Given the description of an element on the screen output the (x, y) to click on. 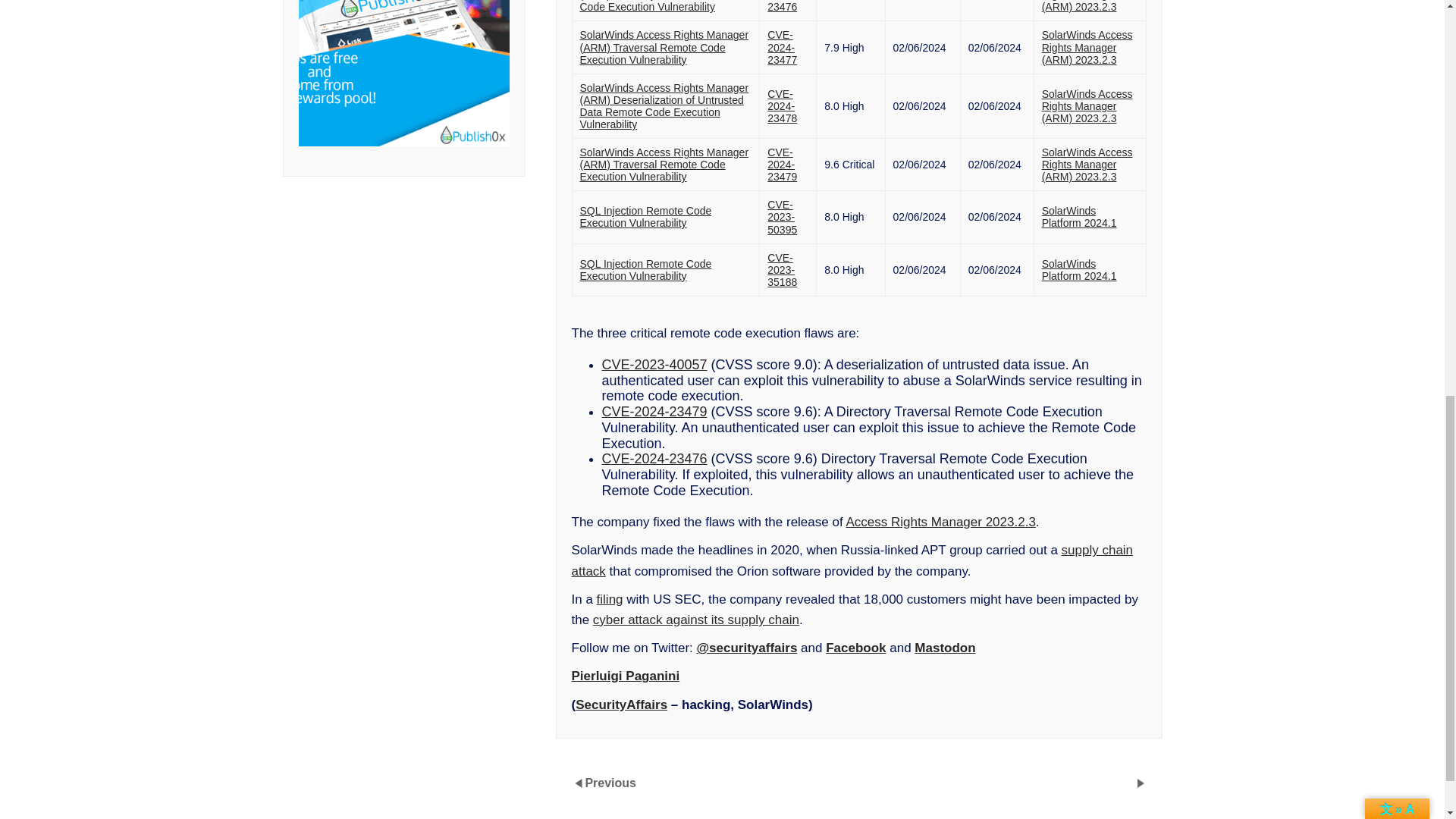
SolarWinds Platform 2024.1 (1079, 269)
SQL Injection Remote Code Execution Vulnerability (645, 269)
SQL Injection Remote Code Execution Vulnerability (645, 216)
SolarWinds Platform 2024.1 (1079, 216)
CVE-2024-23476 (784, 8)
